Given the description of an element on the screen output the (x, y) to click on. 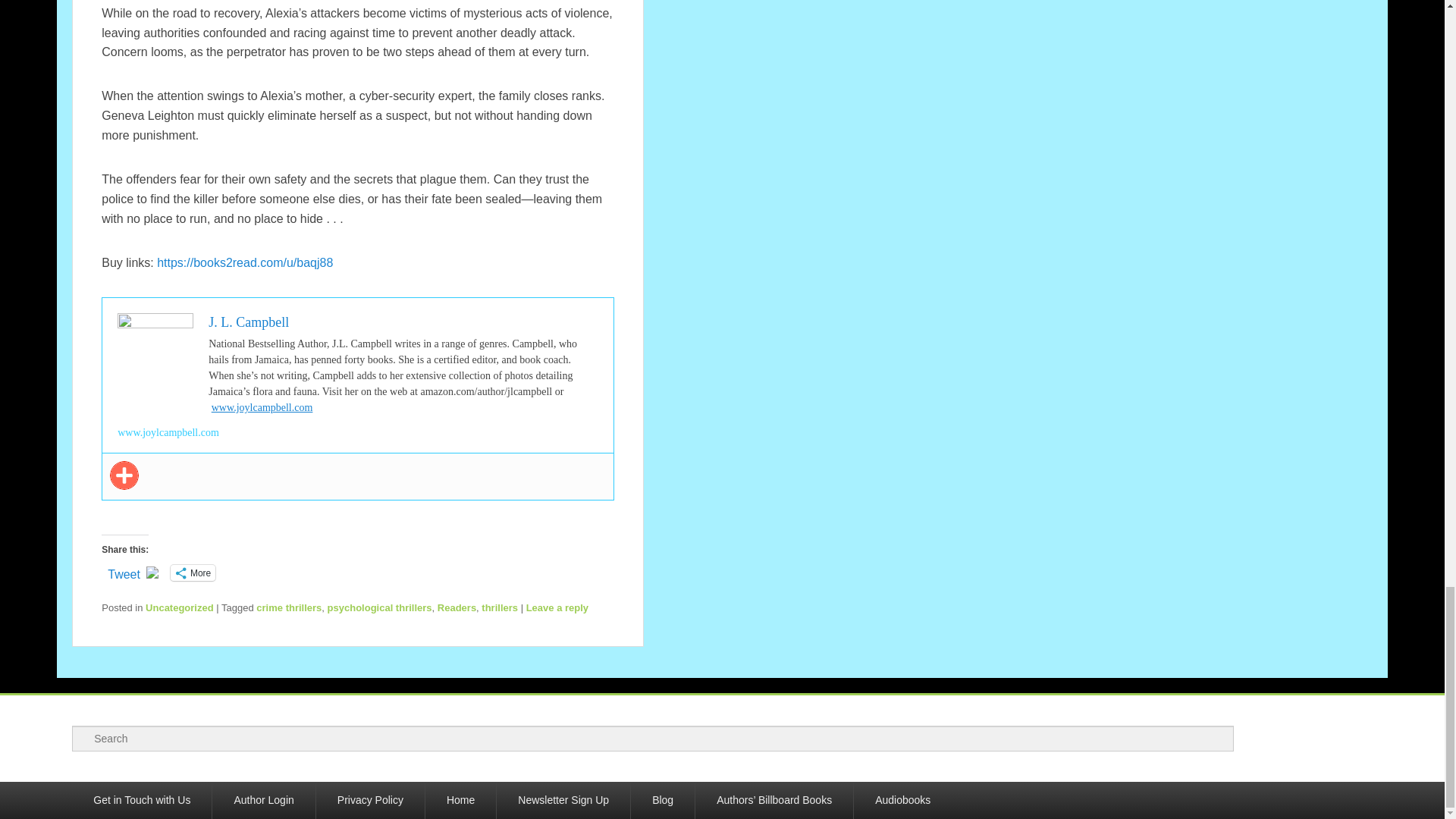
psychological thrillers (379, 607)
J. L. Campbell (248, 322)
crime thrillers (288, 607)
Addthis (124, 475)
Readers (457, 607)
thrillers (499, 607)
More (192, 572)
Tweet (123, 571)
Uncategorized (179, 607)
www.joylcampbell.com (168, 432)
www.joylcampbell.com (262, 407)
Leave a reply (556, 607)
